Given the description of an element on the screen output the (x, y) to click on. 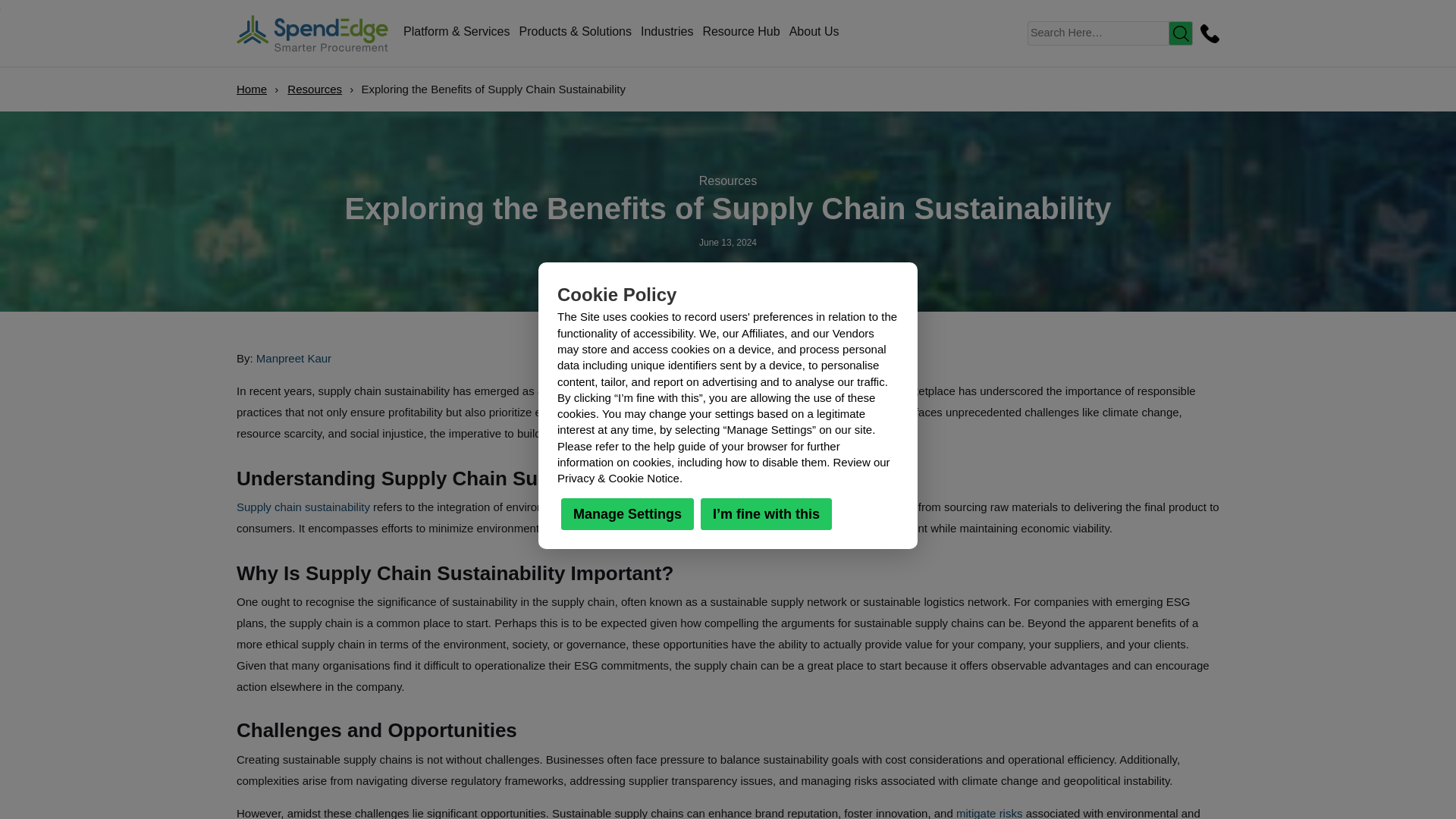
Search (1180, 33)
Search (1180, 33)
Contact Us (1206, 32)
